Given the description of an element on the screen output the (x, y) to click on. 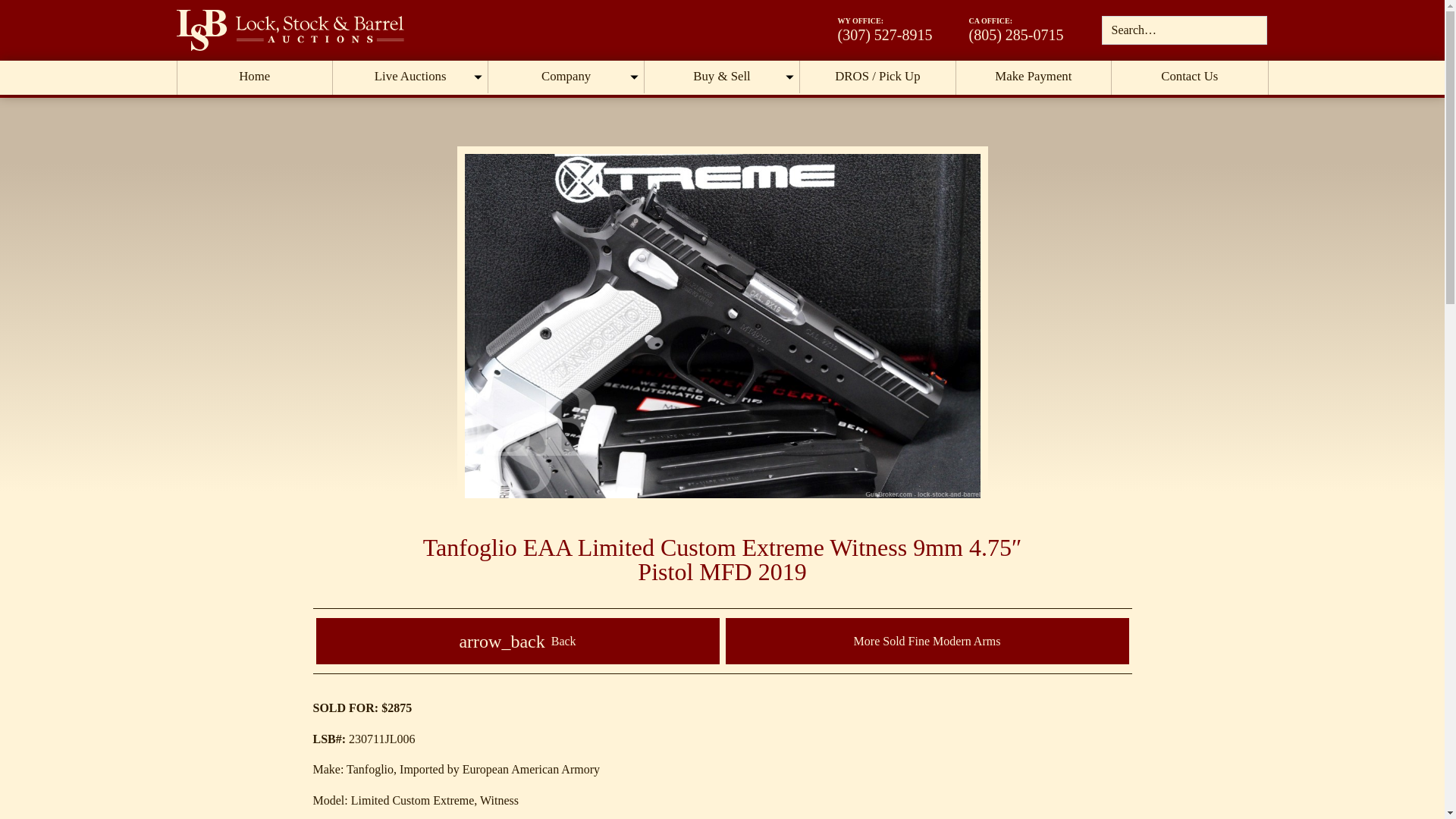
Company (565, 76)
Live Auctions (410, 76)
Make Payment (1034, 77)
Home (255, 77)
Contact Us (1189, 77)
More Sold Fine Modern Arms (926, 641)
